Given the description of an element on the screen output the (x, y) to click on. 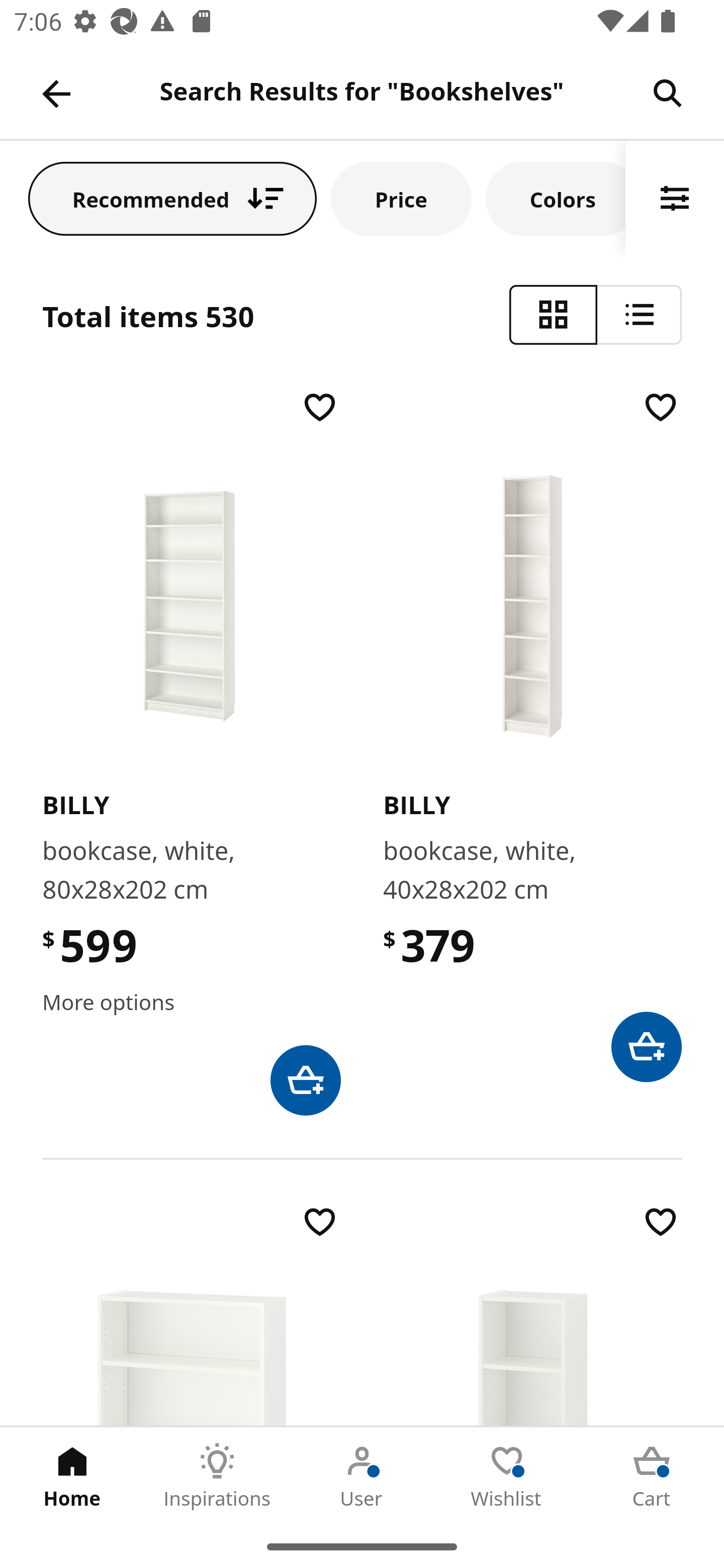
Recommended (172, 198)
Price (400, 198)
Colors (555, 198)
​B​I​L​L​Y​
bookcase, white, 40x28x202 cm
$
379 (532, 734)
Home
Tab 1 of 5 (72, 1476)
Inspirations
Tab 2 of 5 (216, 1476)
User
Tab 3 of 5 (361, 1476)
Wishlist
Tab 4 of 5 (506, 1476)
Cart
Tab 5 of 5 (651, 1476)
